Given the description of an element on the screen output the (x, y) to click on. 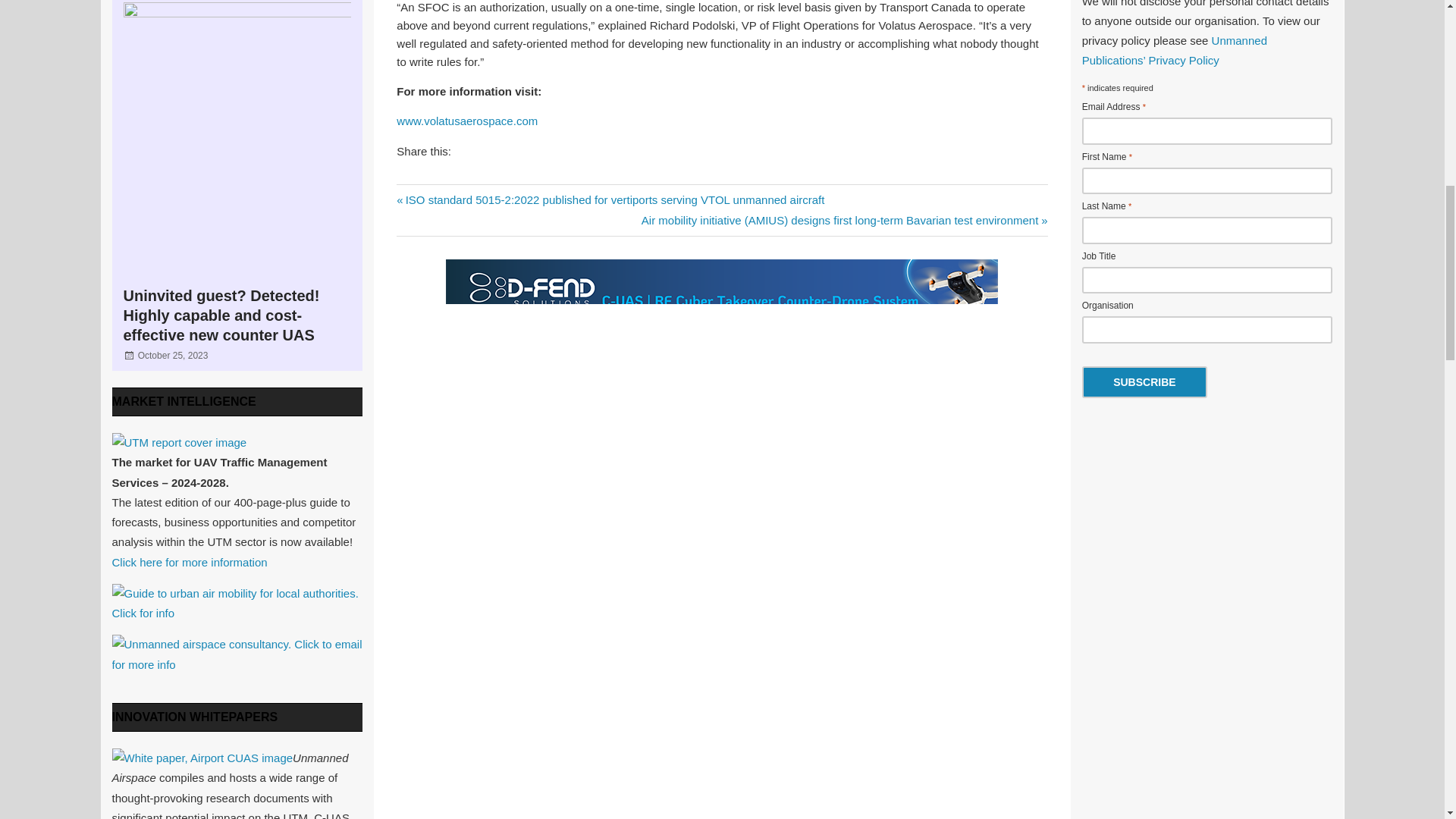
Click here for more information (189, 562)
www.volatusaerospace.com (466, 120)
October 25, 2023 (173, 355)
Subscribe (1144, 382)
9:33 am (173, 355)
